Given the description of an element on the screen output the (x, y) to click on. 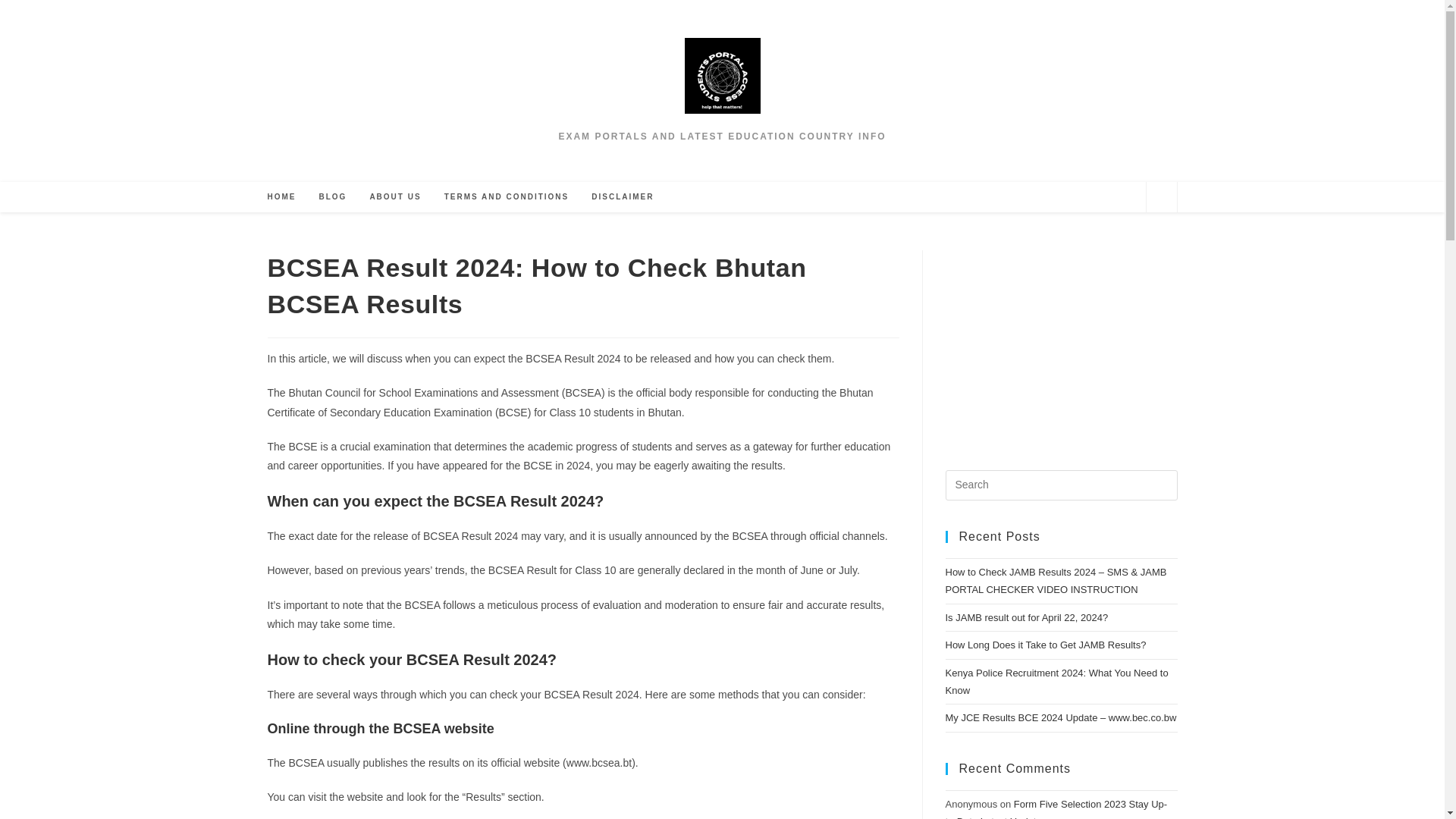
Advertisement (1069, 344)
HOME (281, 196)
DISCLAIMER (622, 196)
Is JAMB result out for April 22, 2024? (1026, 617)
BLOG (332, 196)
Kenya Police Recruitment 2024: What You Need to Know (1055, 681)
TERMS AND CONDITIONS (506, 196)
How Long Does it Take to Get JAMB Results? (1044, 644)
ABOUT US (395, 196)
Form Five Selection 2023 Stay Up-to-Date Latest Updates (1055, 808)
